Given the description of an element on the screen output the (x, y) to click on. 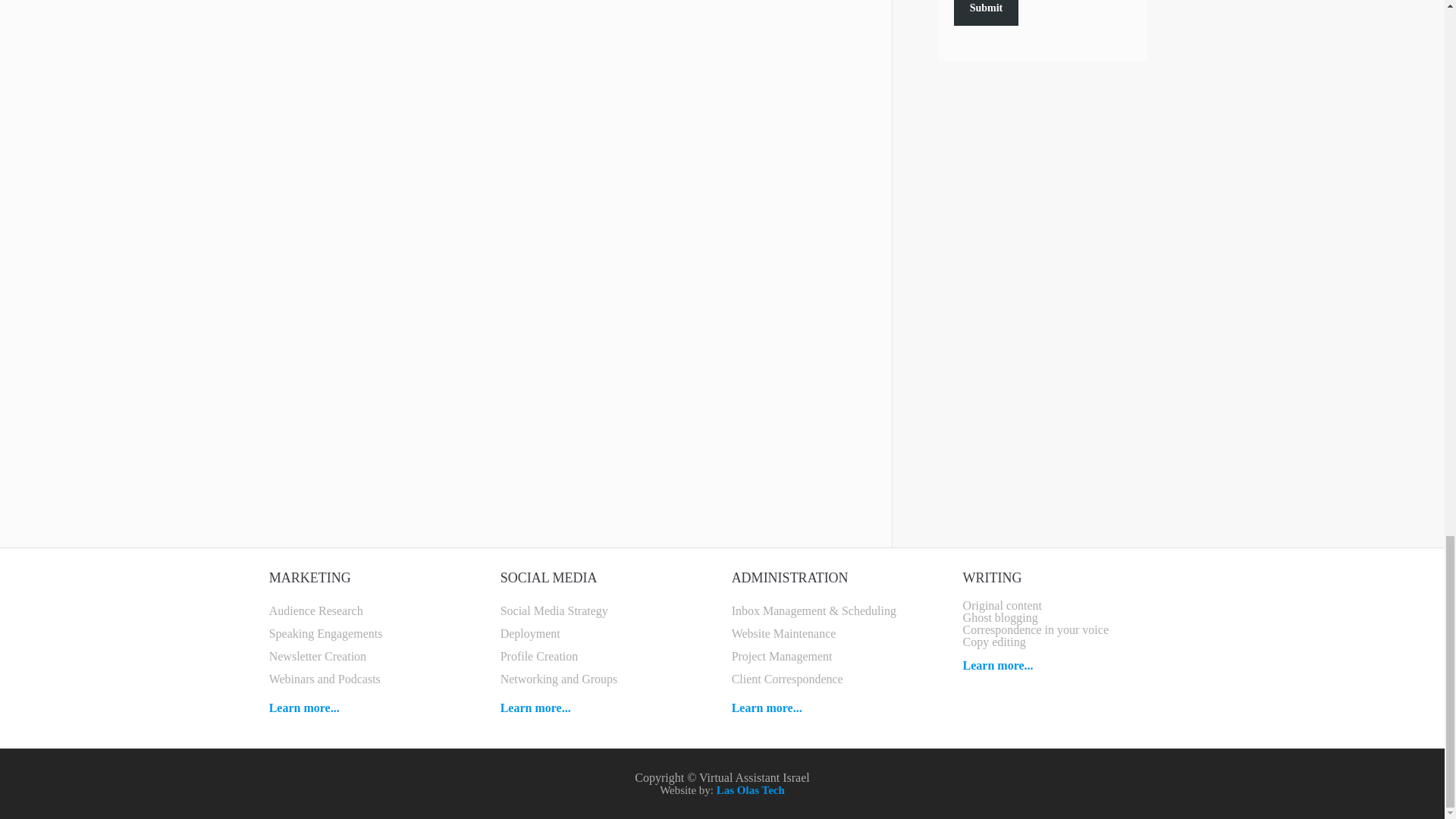
Learn more... (535, 707)
Las Olas Tech (750, 789)
Learn more... (304, 707)
Learn more... (767, 707)
Learn more... (997, 665)
